Given the description of an element on the screen output the (x, y) to click on. 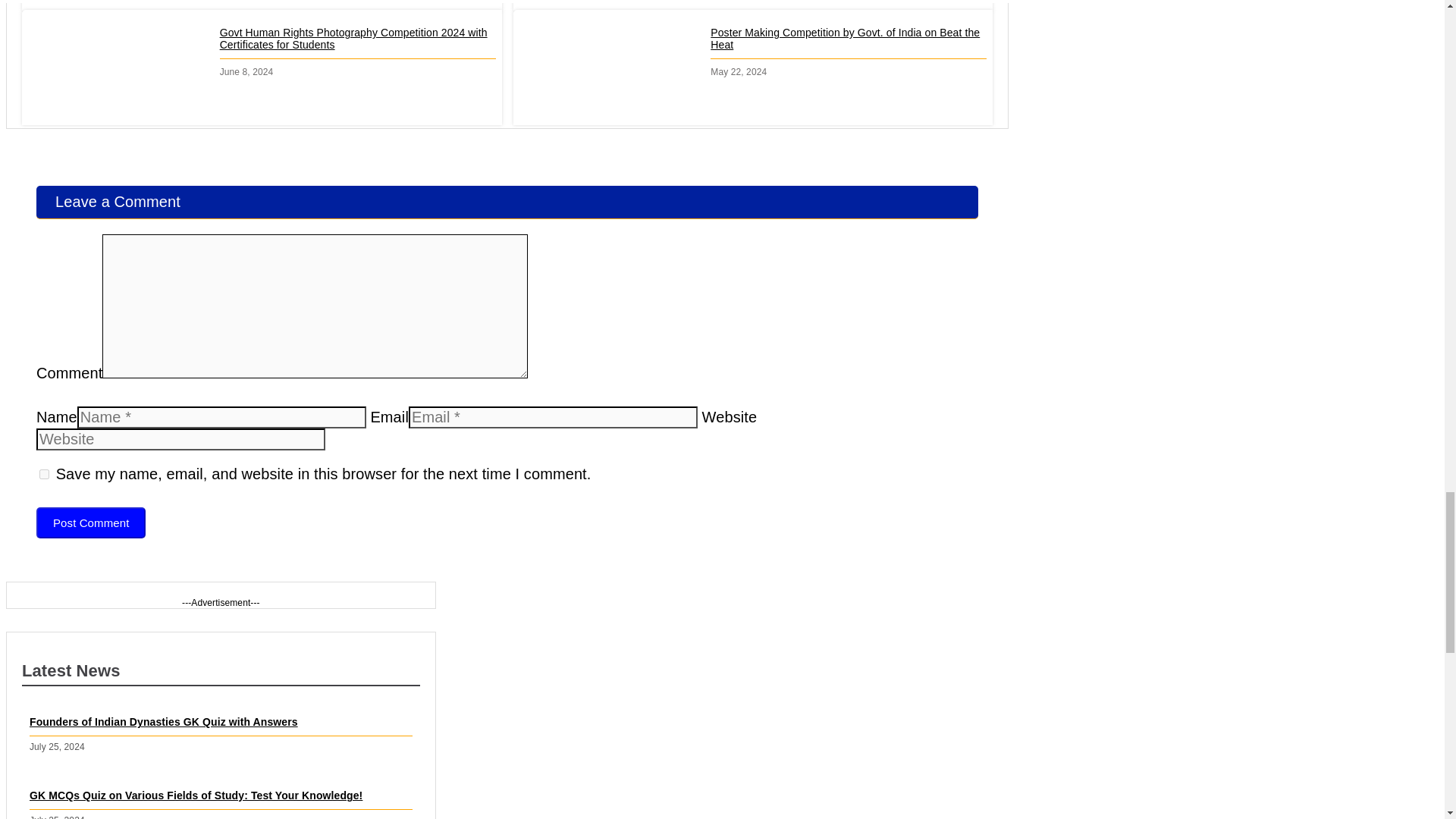
yes (44, 474)
Post Comment (90, 522)
